Given the description of an element on the screen output the (x, y) to click on. 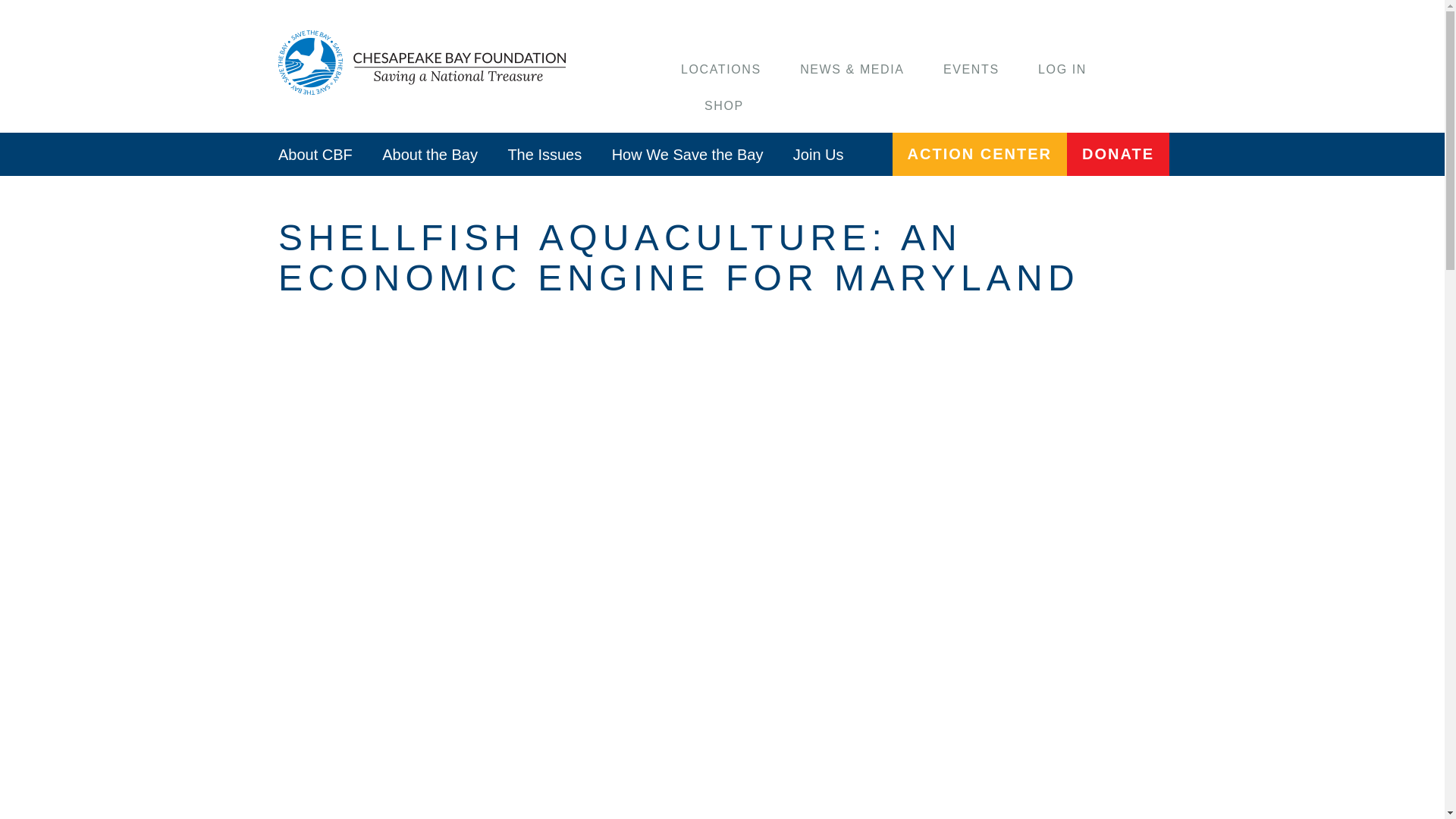
LOG IN (1062, 69)
The Issues (543, 154)
Locations (721, 69)
Shop (724, 105)
Log In (1062, 69)
About the Bay (429, 154)
About CBF (315, 154)
About the Bay (429, 154)
LOCATIONS (721, 69)
Chesapeake Bay Foundation (426, 62)
